Given the description of an element on the screen output the (x, y) to click on. 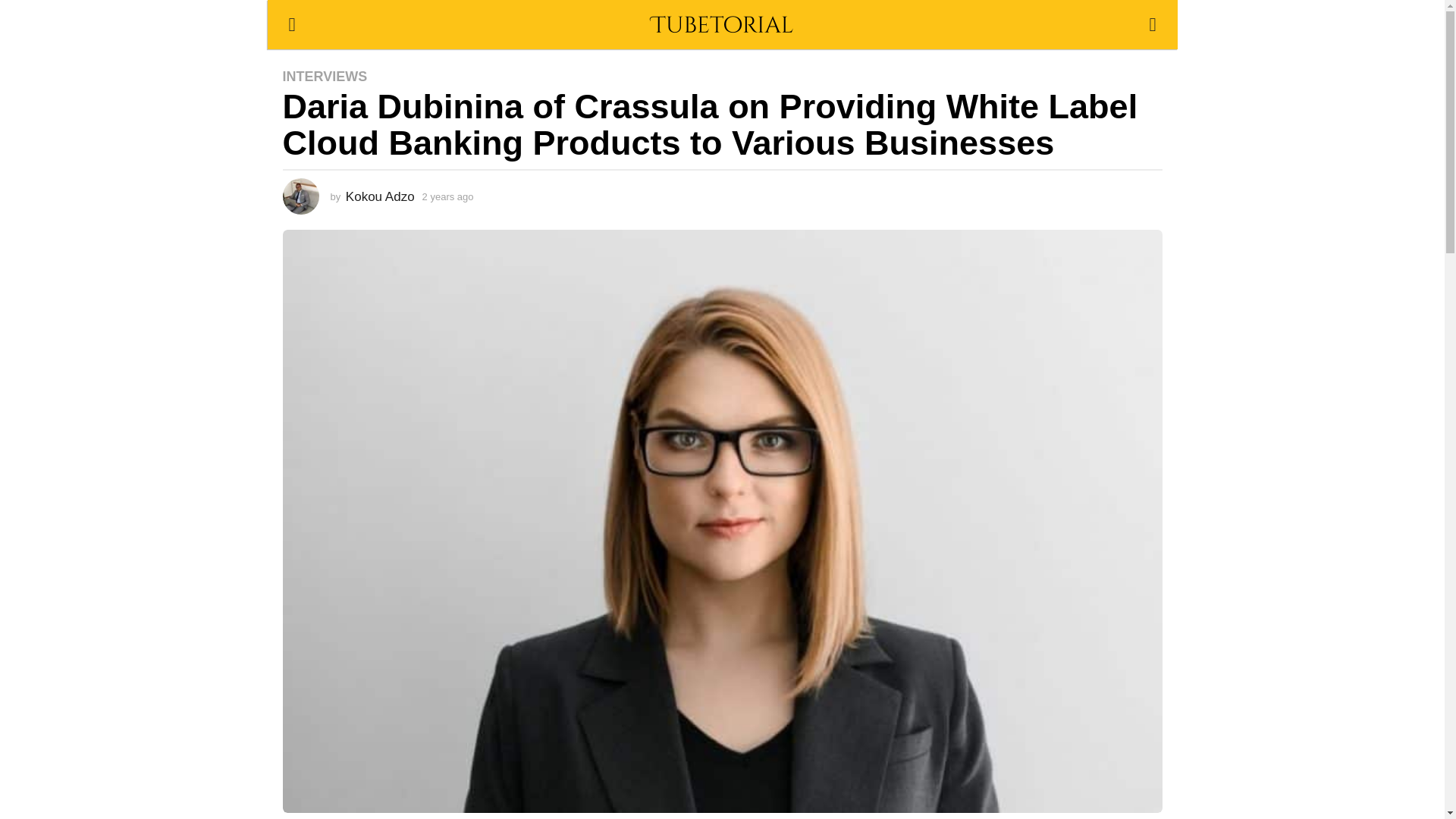
INTERVIEWS (324, 76)
Kokou Adzo (380, 196)
